Given the description of an element on the screen output the (x, y) to click on. 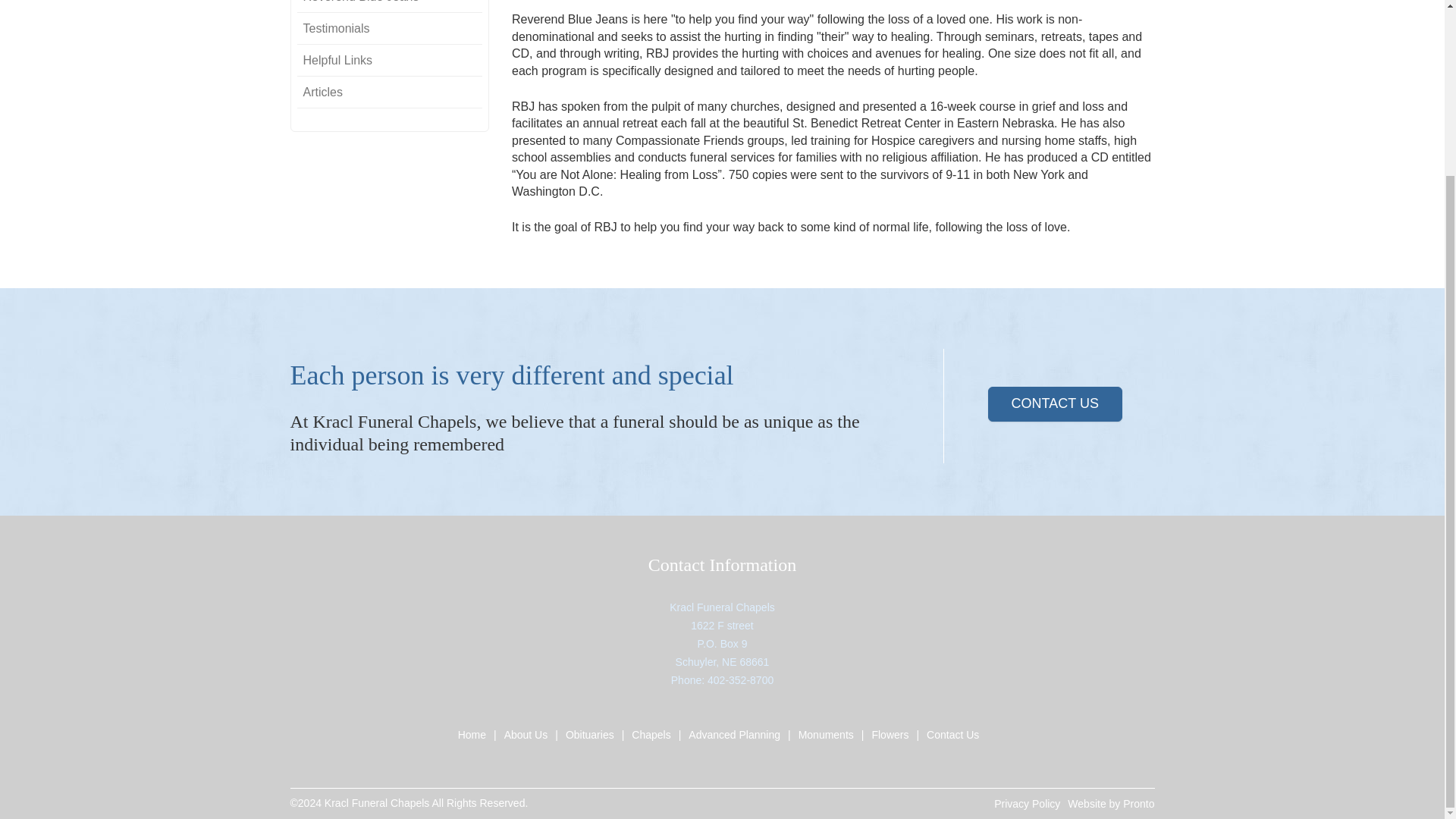
Testimonials (390, 29)
Articles (390, 92)
Advanced Planning (739, 734)
CONTACT US (1055, 403)
Home (477, 734)
Website by Pronto (1110, 803)
Chapels (656, 734)
Helpful Links (390, 60)
Privacy Policy (1026, 803)
Monuments (830, 734)
